Given the description of an element on the screen output the (x, y) to click on. 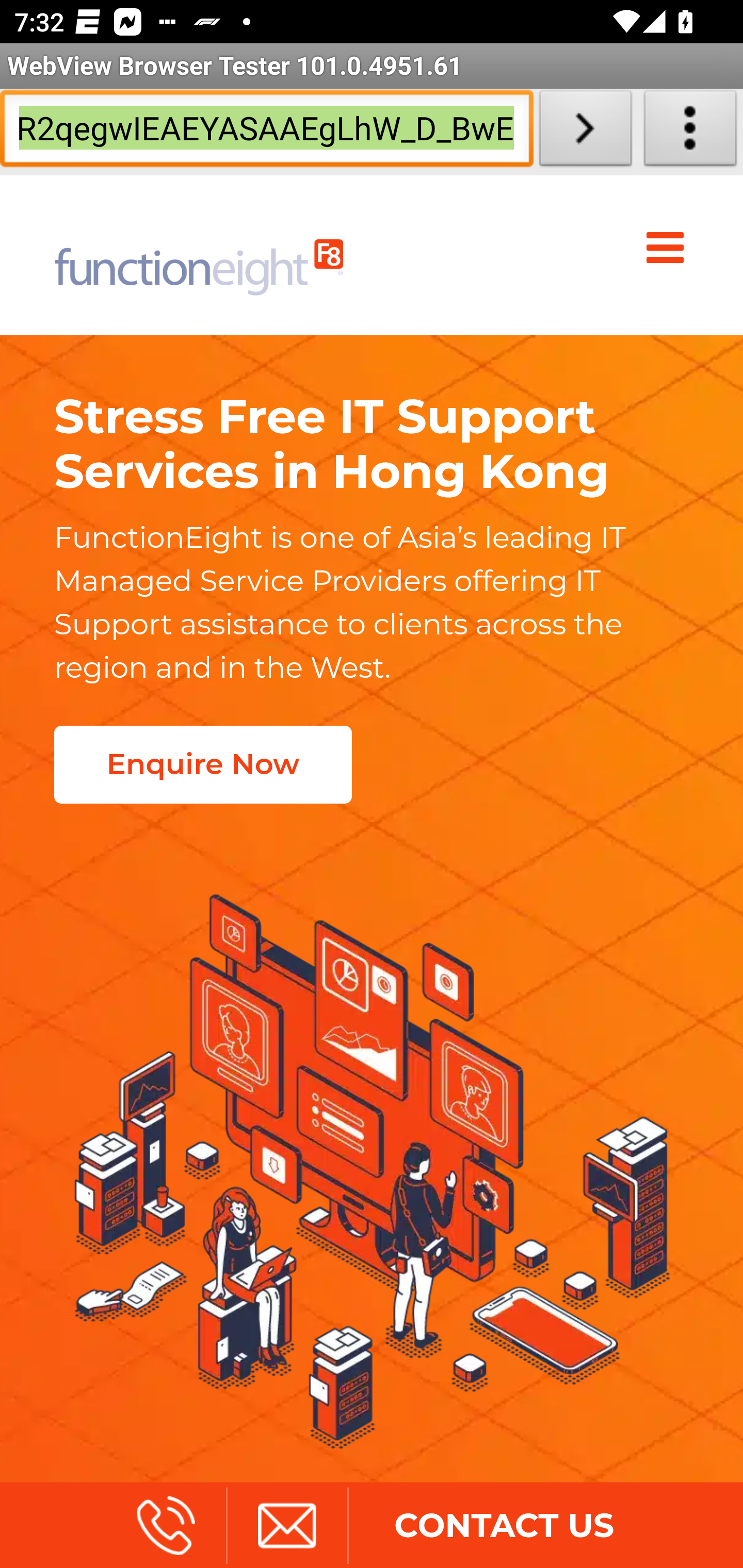
Load URL (585, 132)
About WebView (690, 132)
FunctionEight Hong Kong Logo (199, 254)
Toggle mobile menu  (668, 248)
Enquire Now (202, 764)
email (286, 1524)
CONTACT US (504, 1524)
